Given the description of an element on the screen output the (x, y) to click on. 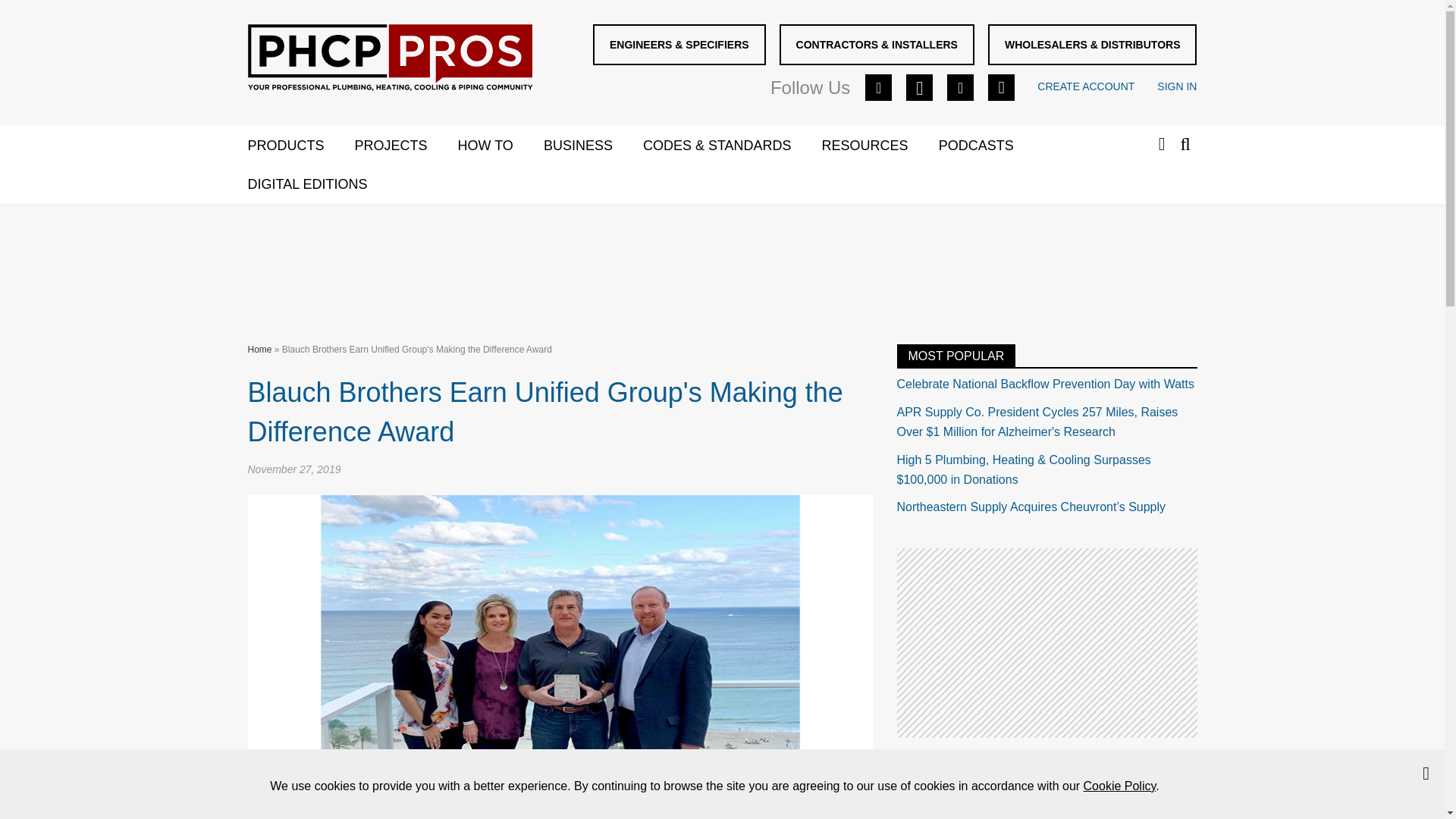
3rd party ad content (1046, 642)
3rd party ad content (721, 260)
logo (389, 57)
